Given the description of an element on the screen output the (x, y) to click on. 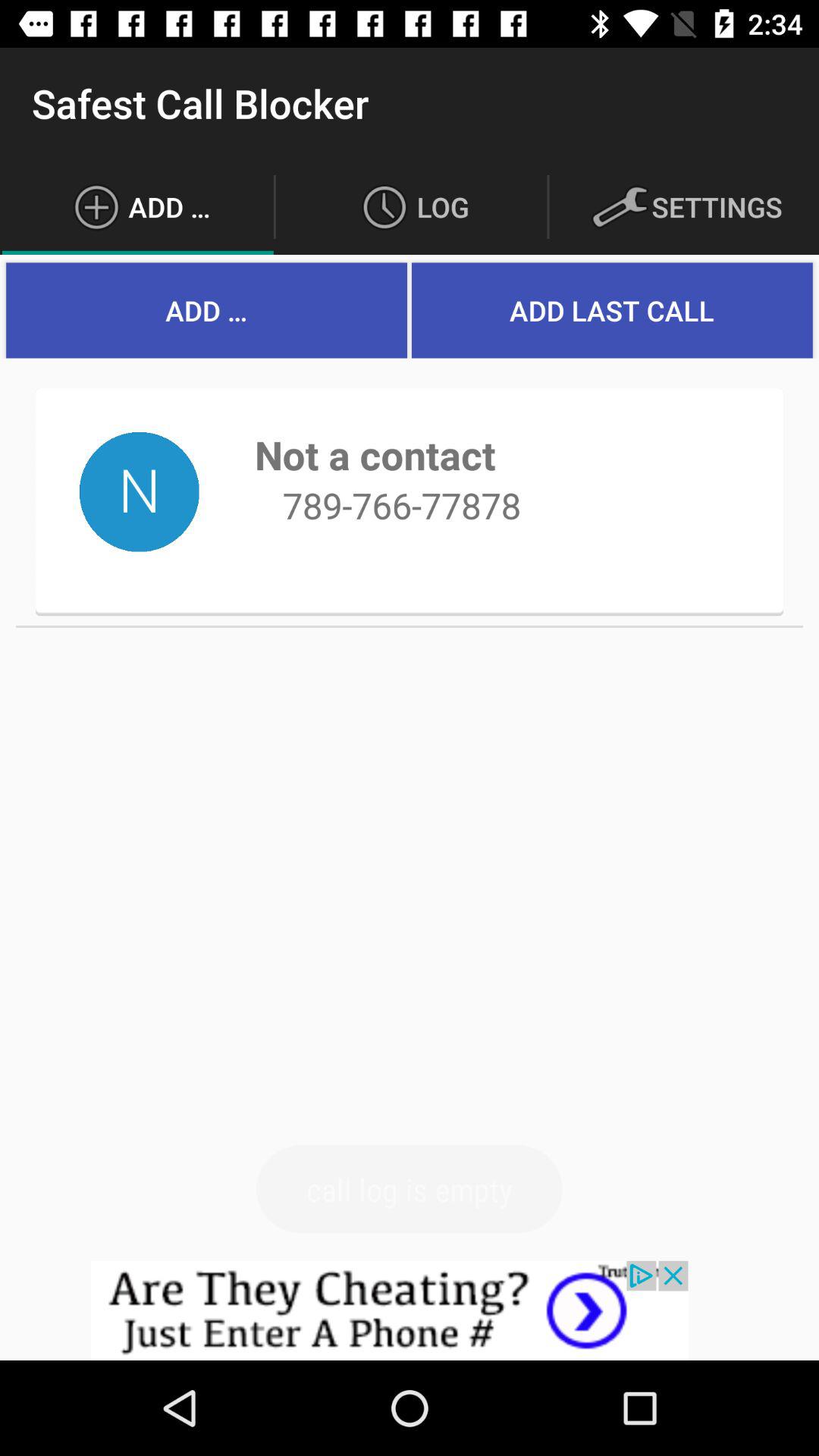
go to advertisement (409, 1310)
